Given the description of an element on the screen output the (x, y) to click on. 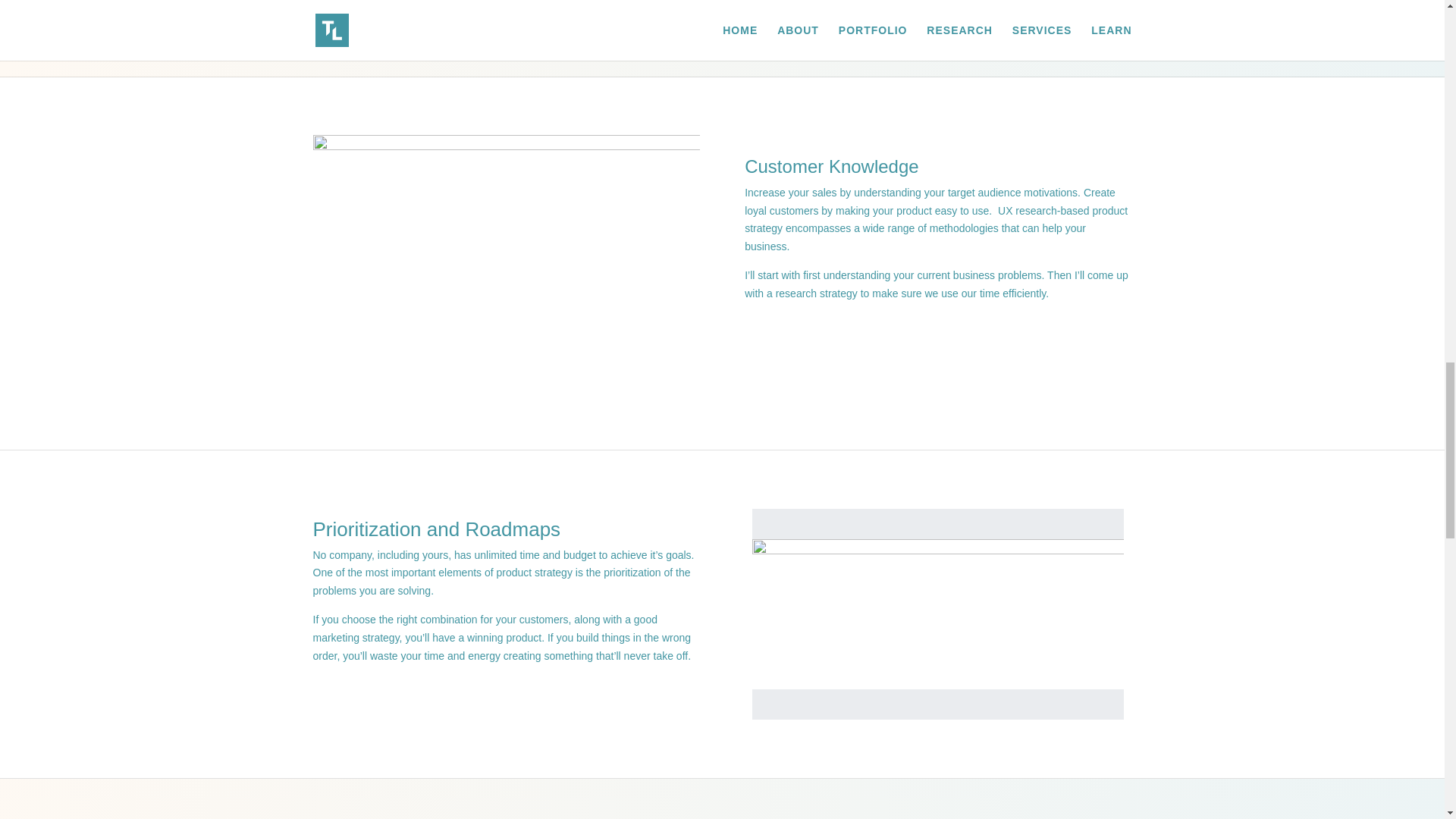
Hero (938, 613)
